Given the description of an element on the screen output the (x, y) to click on. 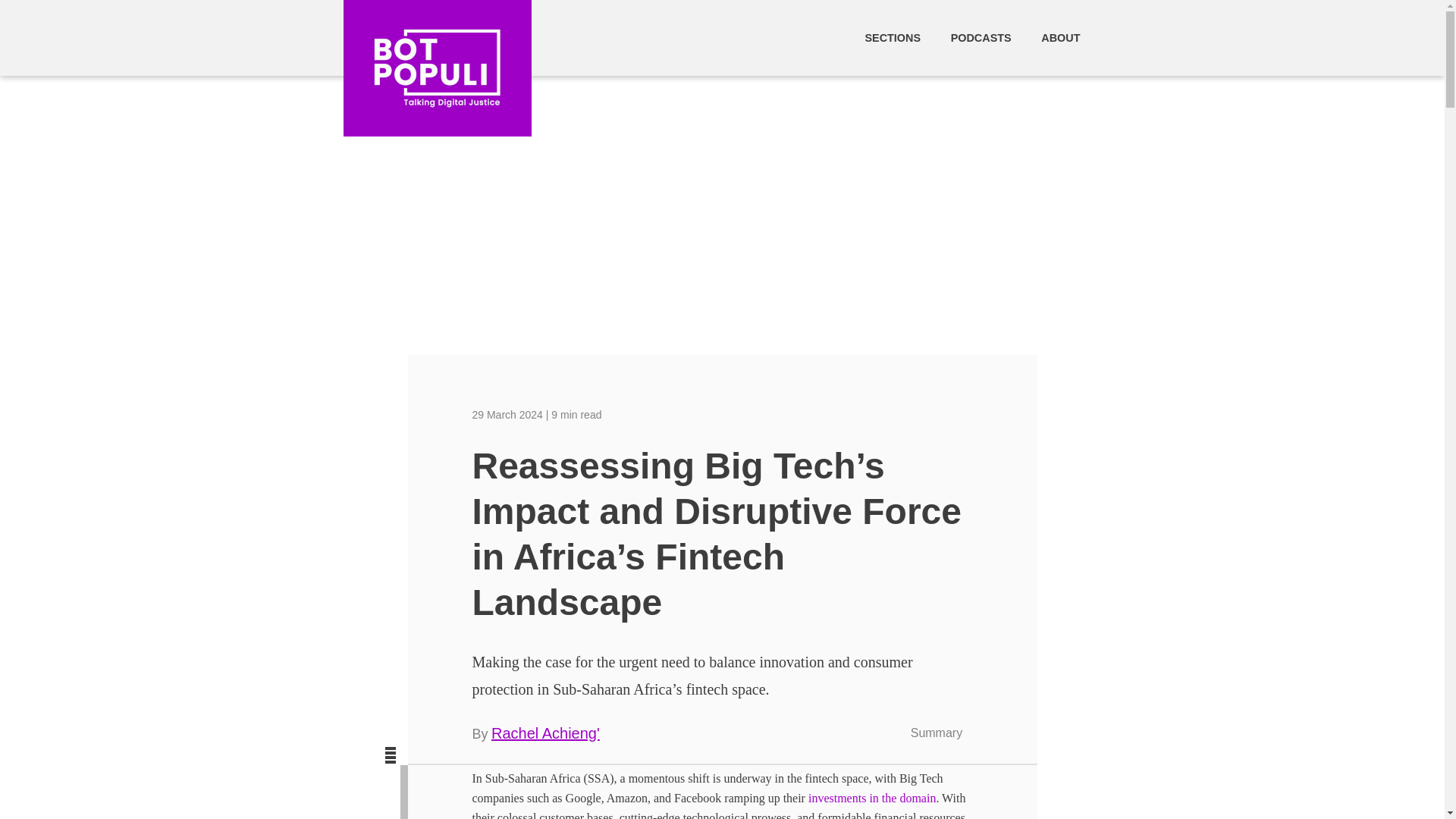
Summary    (941, 733)
ABOUT (1060, 38)
Rachel Achieng' (545, 733)
Sections (893, 38)
Podcasts (982, 38)
About (1060, 38)
PODCASTS (982, 38)
investments in the domain (872, 797)
SECTIONS (893, 38)
